Given the description of an element on the screen output the (x, y) to click on. 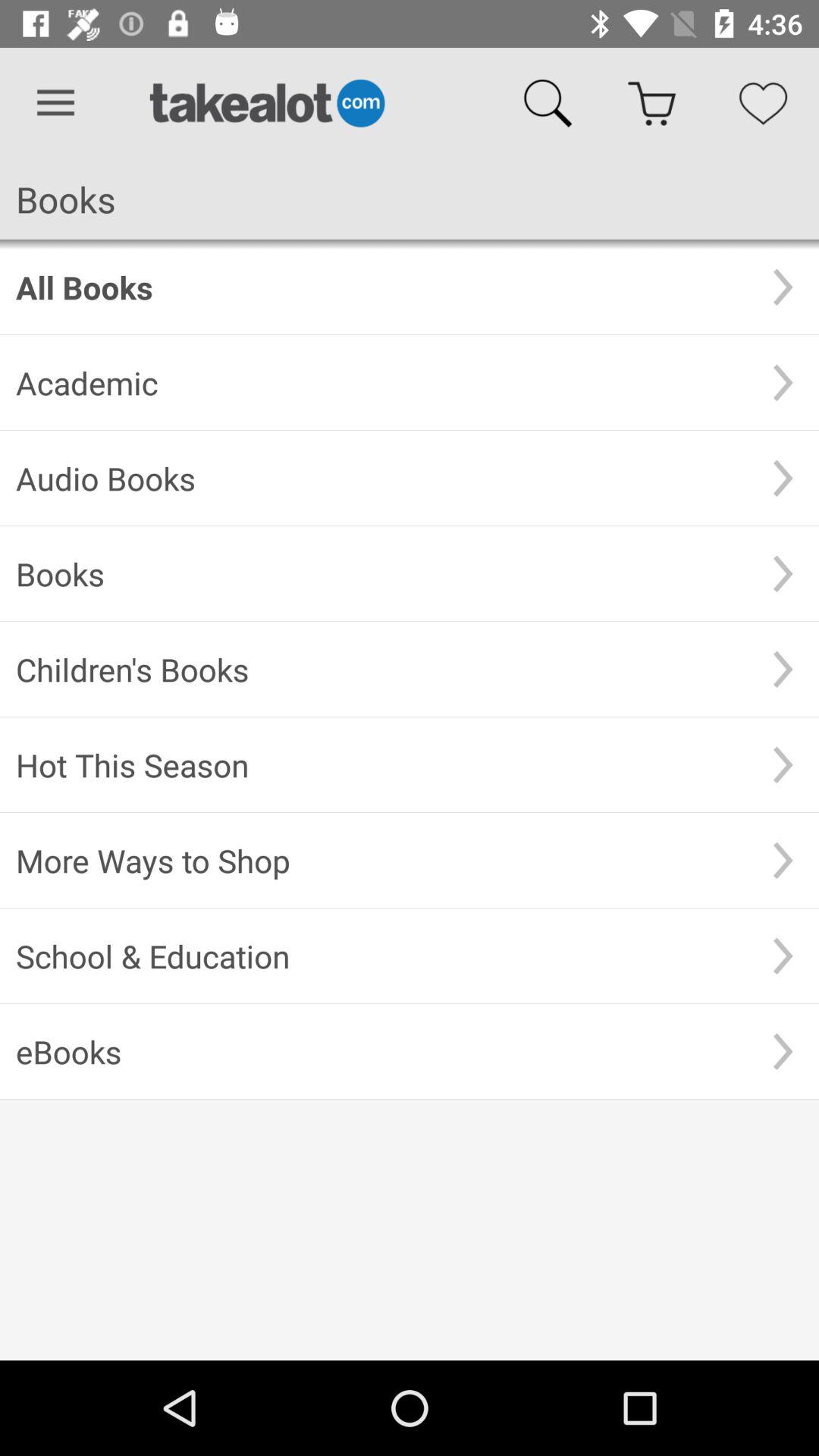
tap the more ways to icon (381, 860)
